Given the description of an element on the screen output the (x, y) to click on. 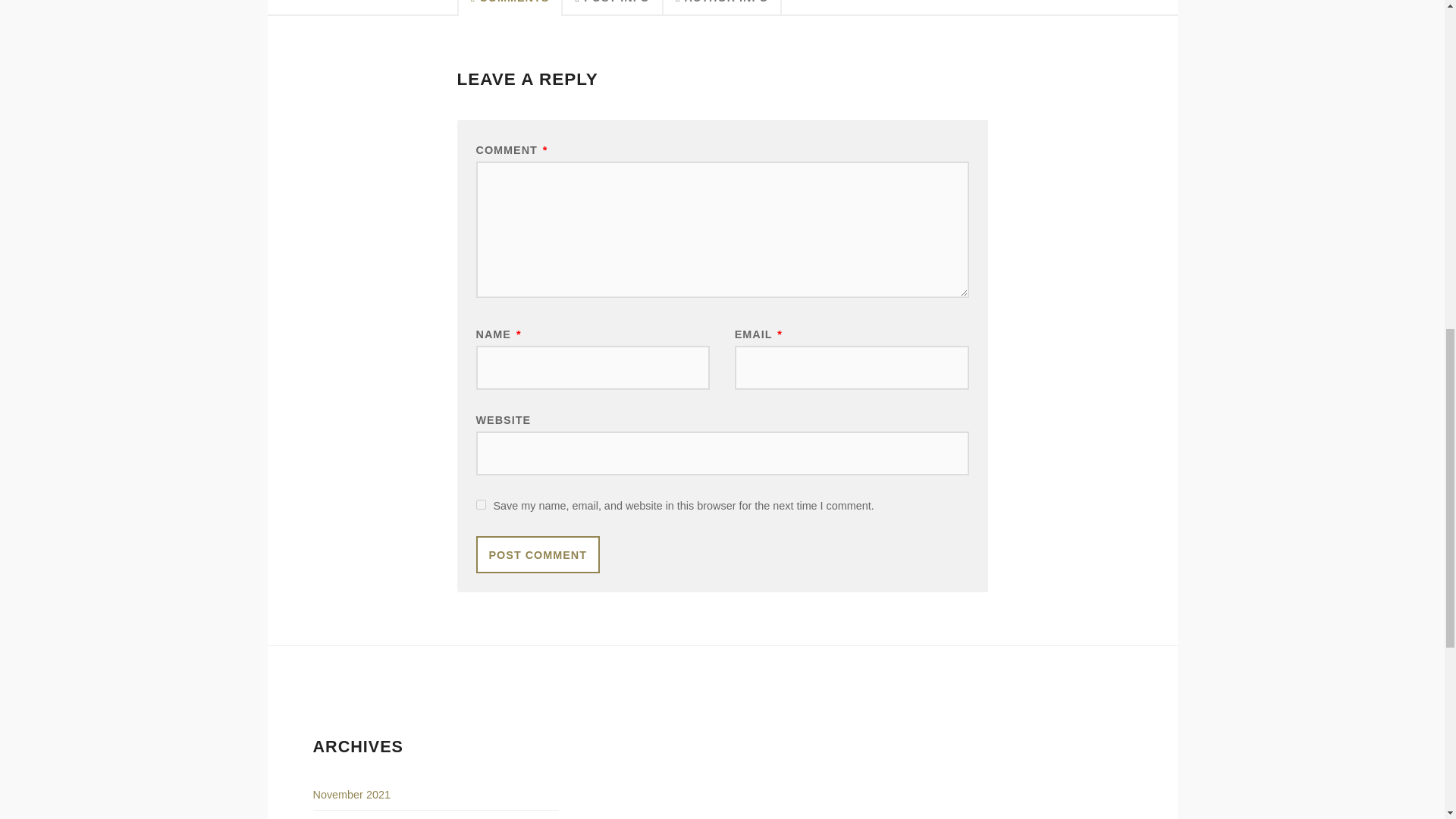
AUTHOR INFO (723, 7)
yes (481, 504)
November 2021 (351, 794)
Post Comment (537, 554)
COMMENTS (509, 7)
Post Comment (537, 554)
POST INFO (612, 7)
